Given the description of an element on the screen output the (x, y) to click on. 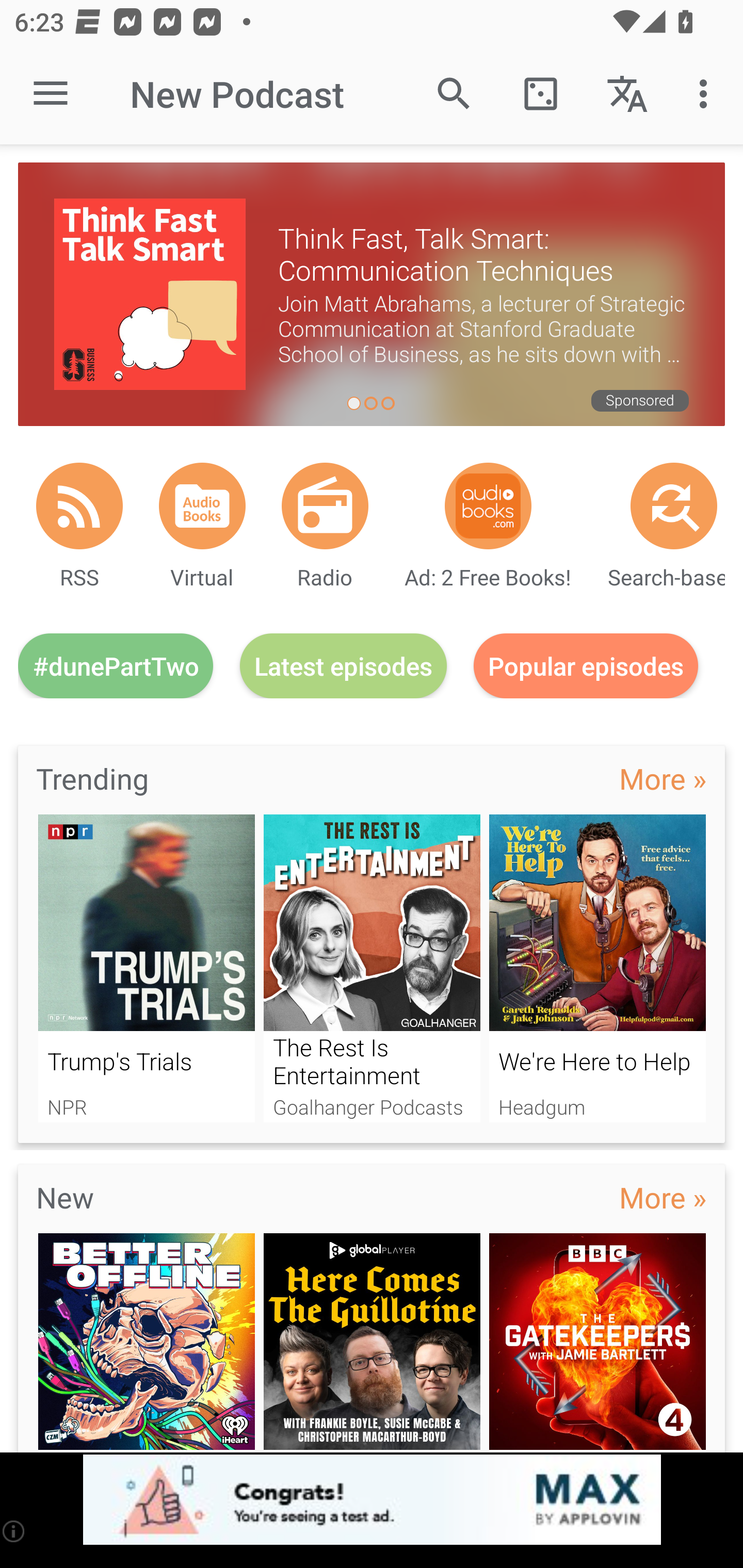
Open navigation sidebar (50, 93)
Search (453, 93)
Random pick (540, 93)
Podcast languages (626, 93)
More options (706, 93)
RSS (79, 505)
Virtual (202, 505)
Radio (324, 505)
Search-based (673, 505)
#dunePartTwo (115, 665)
Latest episodes (342, 665)
Popular episodes (586, 665)
More » (662, 778)
Trump's Trials NPR (145, 967)
The Rest Is Entertainment Goalhanger Podcasts (371, 967)
We're Here to Help Headgum (596, 967)
More » (662, 1196)
Better Offline (145, 1342)
Here Comes The Guillotine (371, 1342)
The Gatekeepers (596, 1342)
app-monetization (371, 1500)
(i) (14, 1531)
